Given the description of an element on the screen output the (x, y) to click on. 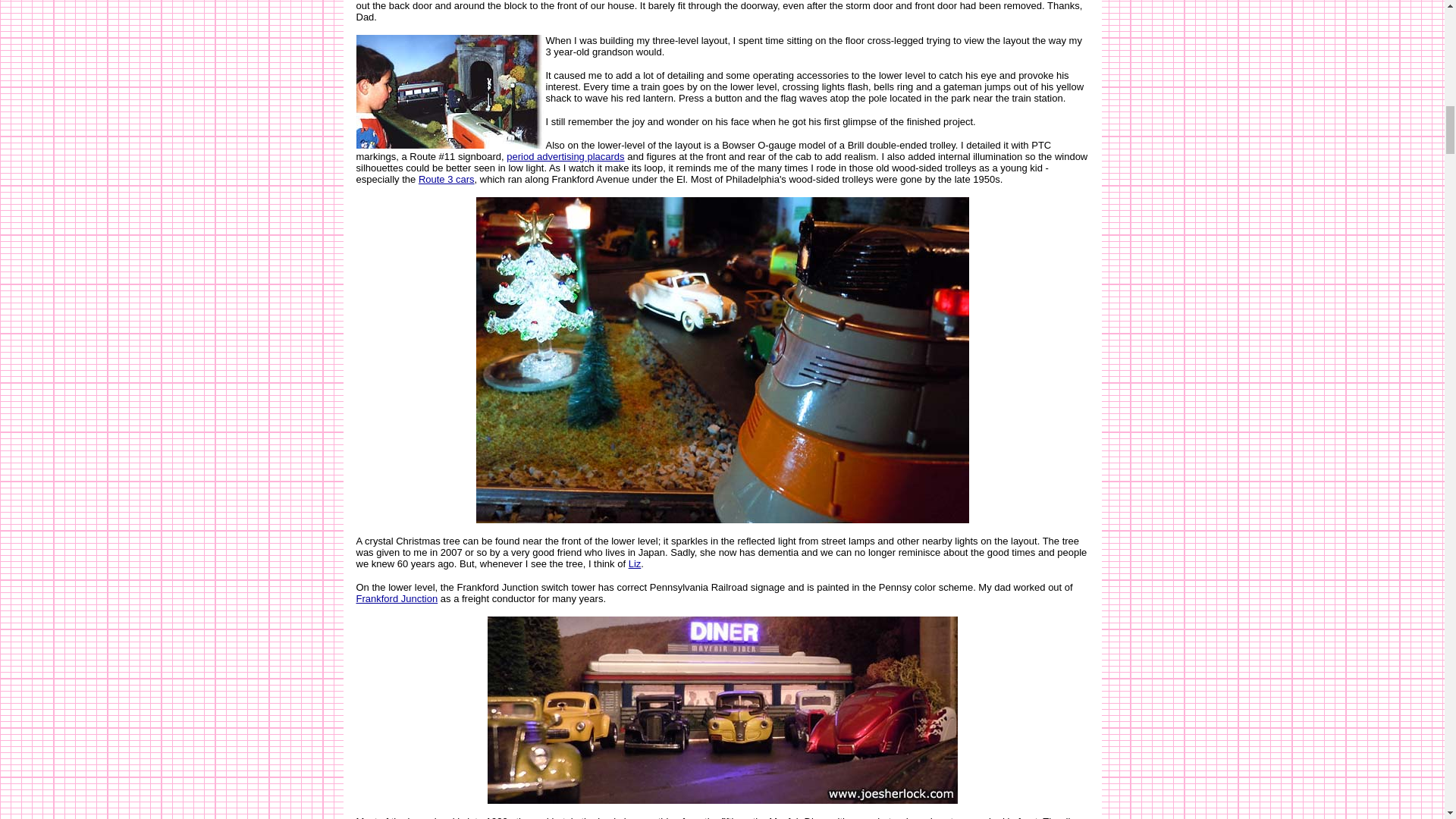
Route 3 cars (446, 178)
period advertising placards (565, 155)
Liz (635, 563)
Frankford Junction (397, 598)
